Given the description of an element on the screen output the (x, y) to click on. 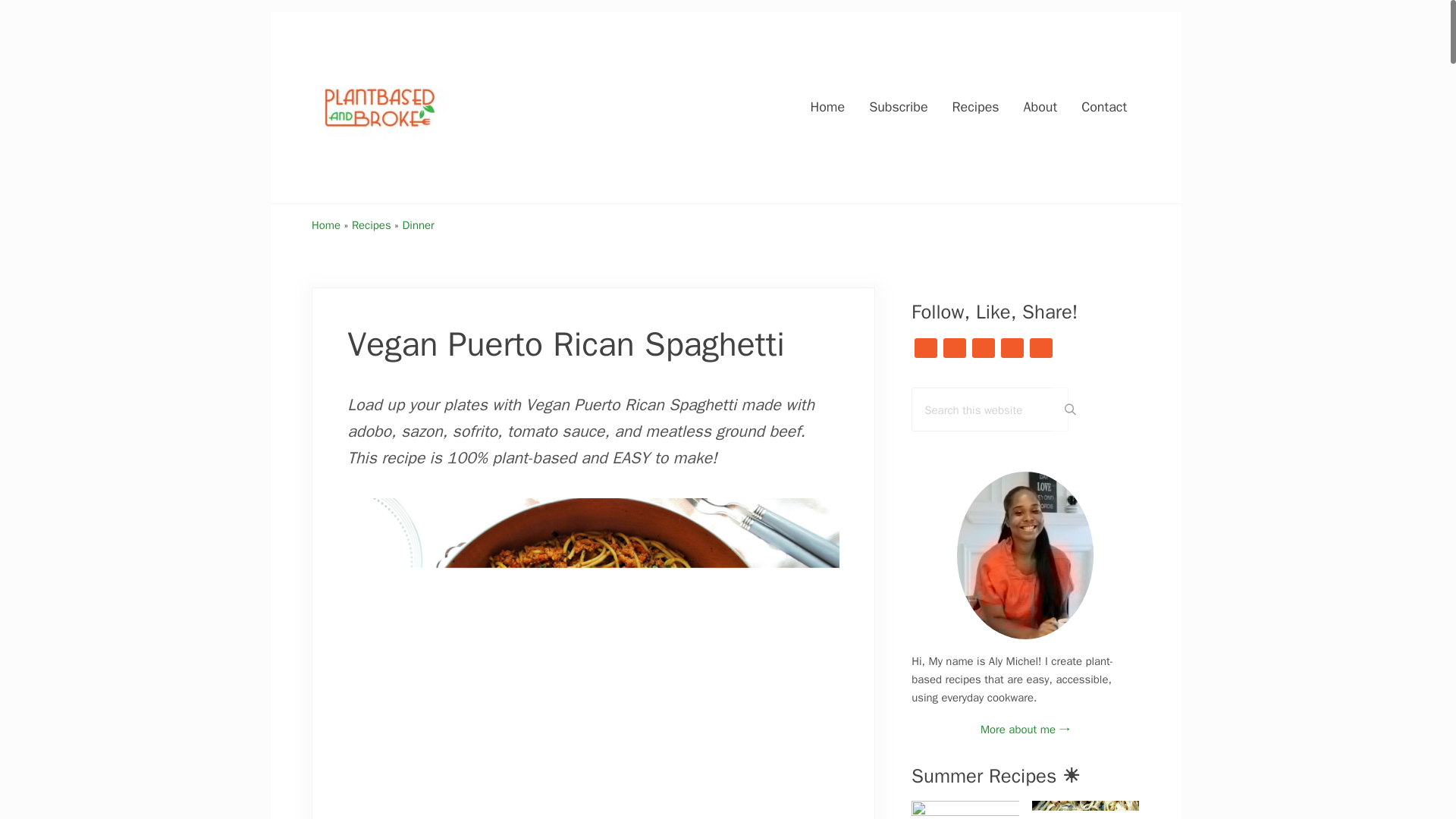
Contact (1103, 106)
Subscribe (898, 106)
Subscribe (898, 106)
About (1040, 106)
Home (325, 224)
Dinner (418, 224)
Recipes (975, 106)
Home (827, 106)
Recipes (371, 224)
